Given the description of an element on the screen output the (x, y) to click on. 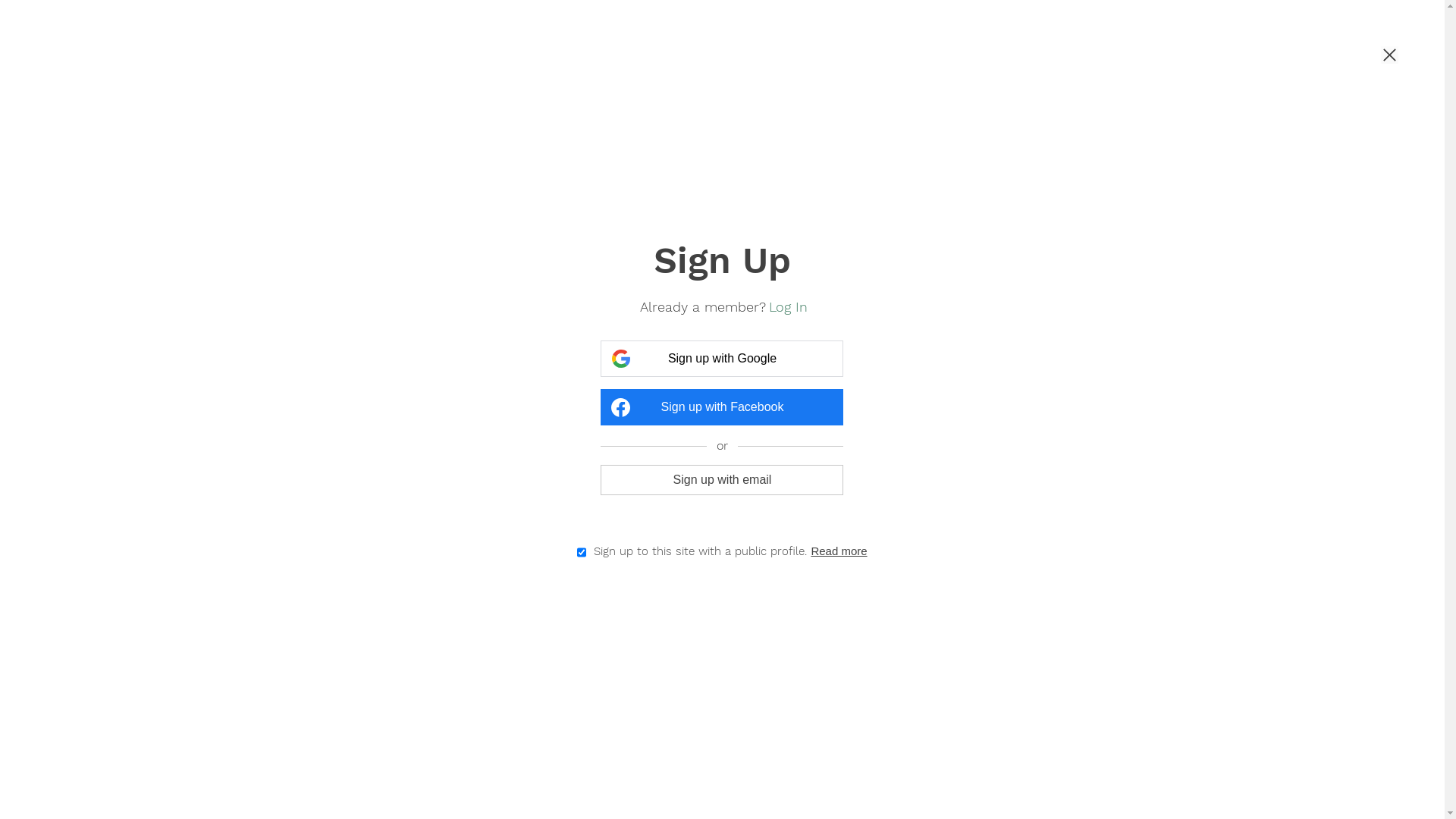
Read more Element type: text (838, 550)
Sign up with Google Element type: text (721, 358)
Sign up with email Element type: text (721, 479)
Log In Element type: text (787, 306)
Sign up with Facebook Element type: text (721, 407)
